Given the description of an element on the screen output the (x, y) to click on. 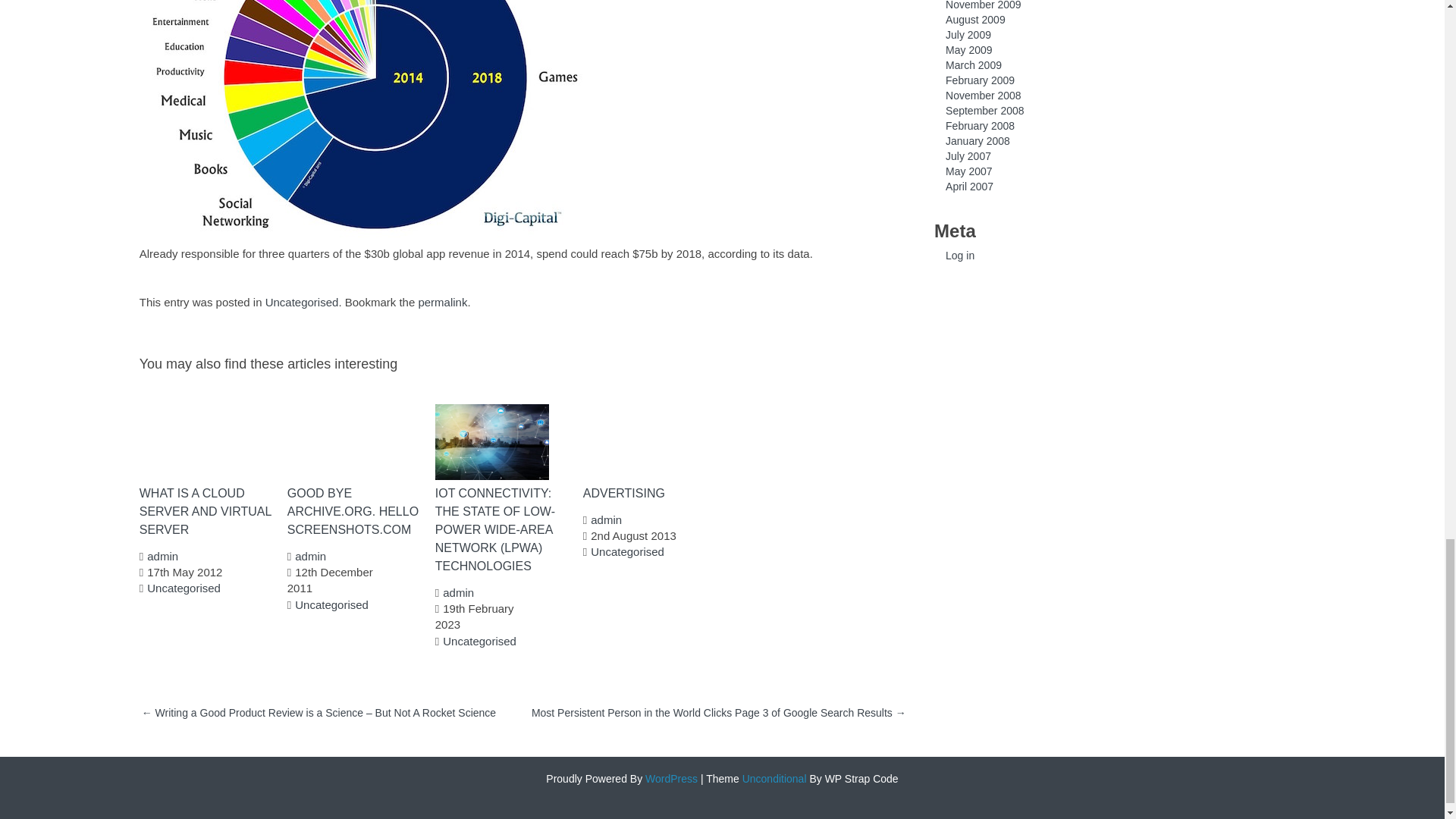
admin (162, 555)
Uncategorised (627, 551)
admin (606, 519)
admin (458, 592)
WHAT IS A CLOUD SERVER AND VIRTUAL SERVER (207, 511)
Uncategorised (331, 604)
Uncategorised (184, 587)
Uncategorised (301, 301)
Uncategorised (479, 640)
permalink (442, 301)
admin (310, 555)
ADVERTISING (651, 493)
GOOD BYE ARCHIVE.ORG. HELLO SCREENSHOTS.COM (354, 511)
